Given the description of an element on the screen output the (x, y) to click on. 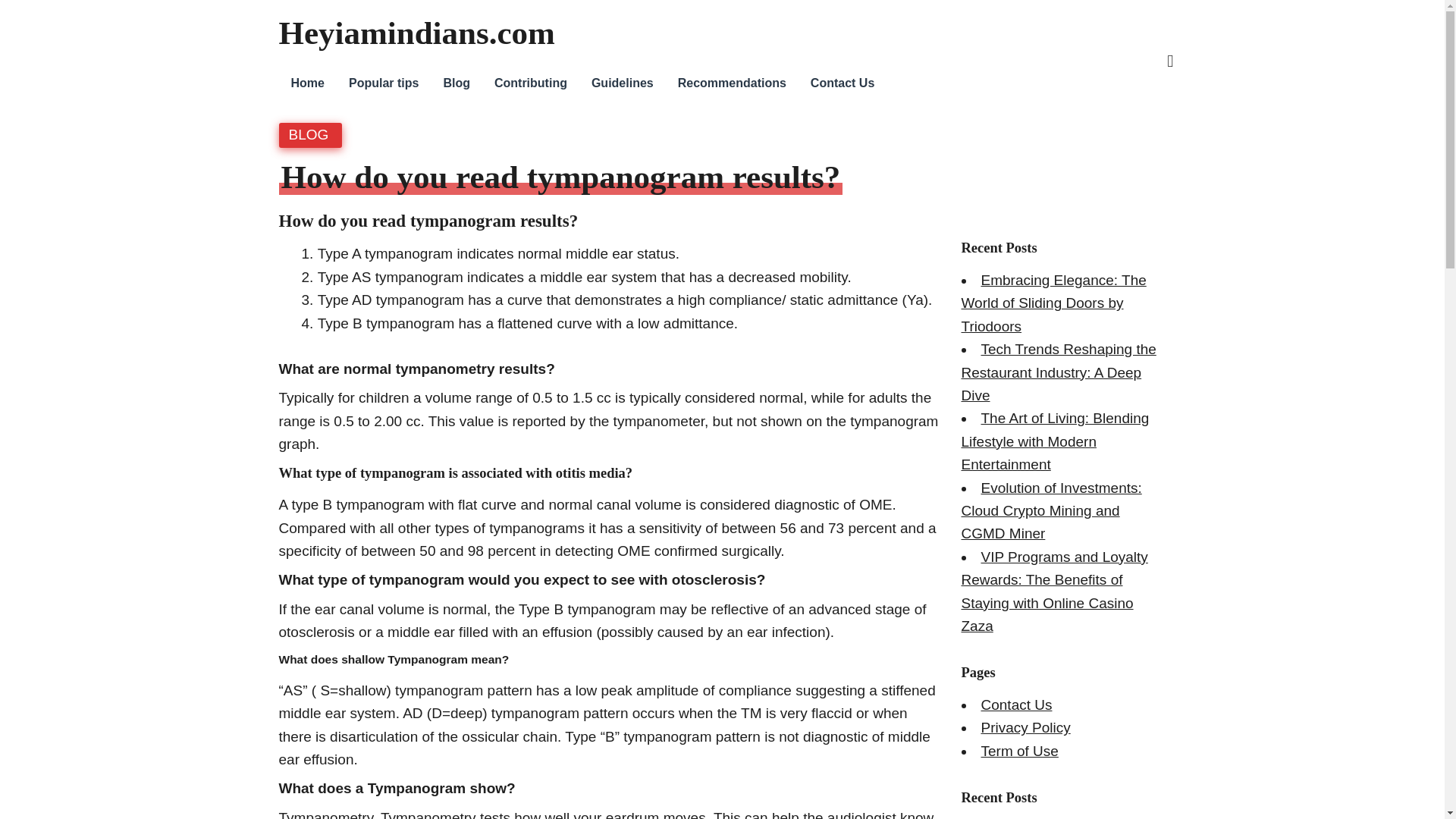
Evolution of Investments: Cloud Crypto Mining and CGMD Miner (1050, 510)
Recommendations (731, 83)
Tech Trends Reshaping the Restaurant Industry: A Deep Dive (1058, 372)
Home (307, 83)
BLOG (308, 134)
Heyiamindians.com (416, 32)
Contributing (530, 83)
Contact Us (841, 83)
Guidelines (622, 83)
Popular tips (383, 83)
Embracing Elegance: The World of Sliding Doors by Triodoors (1053, 302)
Blog (455, 83)
